Given the description of an element on the screen output the (x, y) to click on. 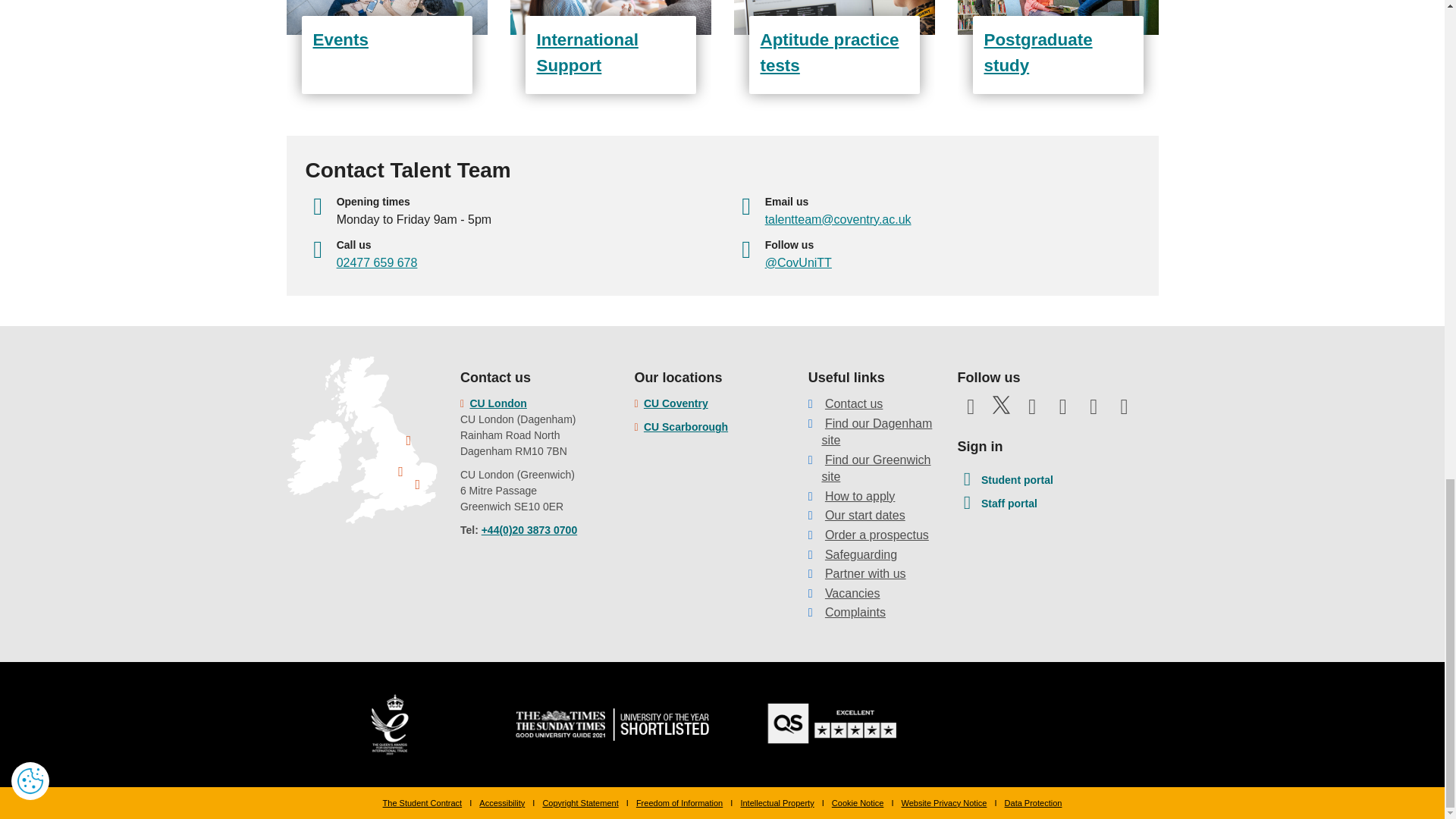
Complaints (855, 612)
Find our Dagenham site (876, 431)
Find our Greenwich site (875, 468)
QS Five Star Rating 2023 (832, 724)
International Support (609, 46)
Partner with us (865, 573)
How to apply (860, 495)
Like us on Facebook (970, 410)
University of the year shortlisted (611, 724)
Add us on Snapchat (1124, 410)
Contact us (853, 403)
Order a prospectus (876, 534)
Events (386, 46)
